Given the description of an element on the screen output the (x, y) to click on. 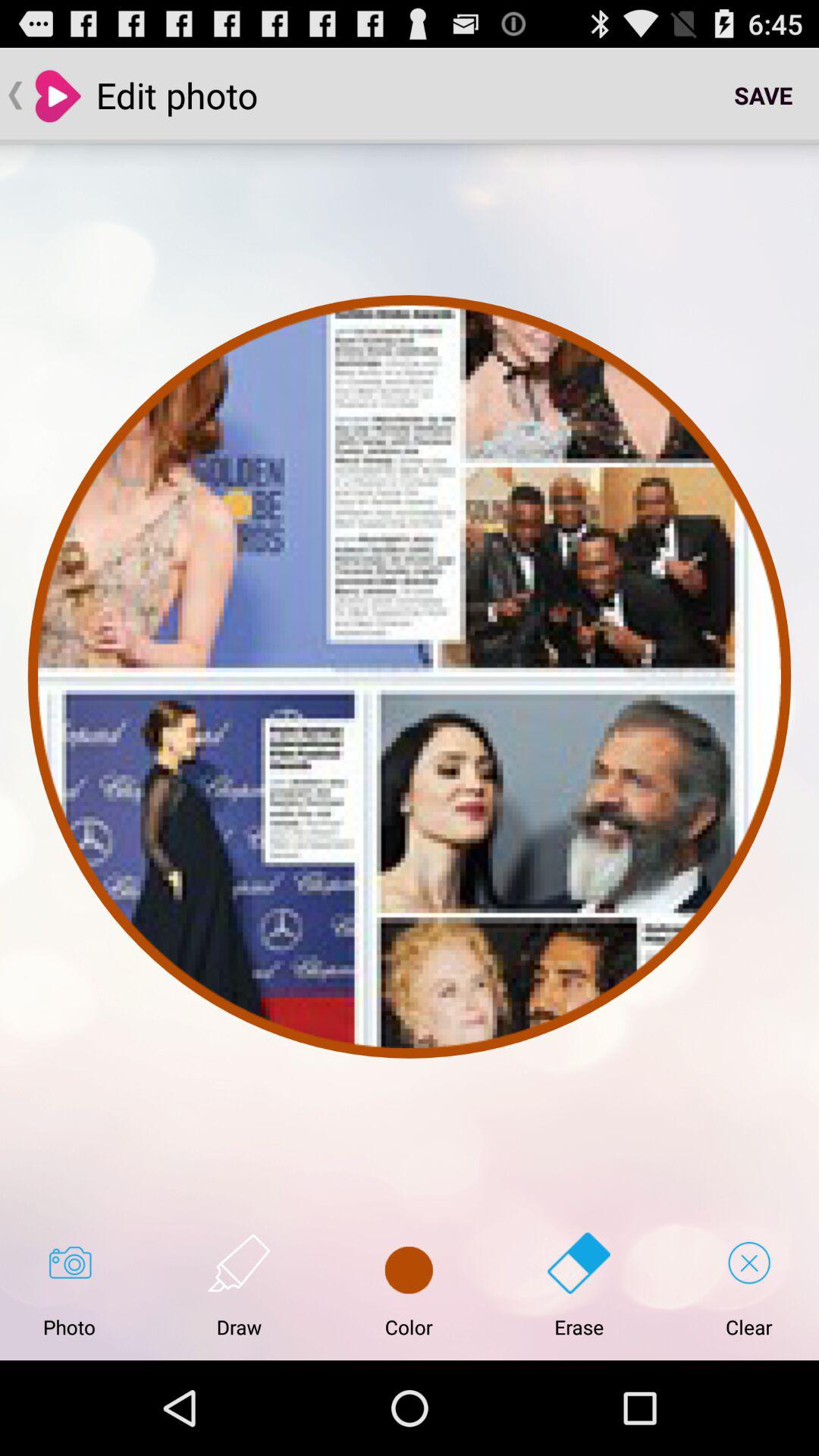
tap item to the left of the color item (238, 1285)
